Given the description of an element on the screen output the (x, y) to click on. 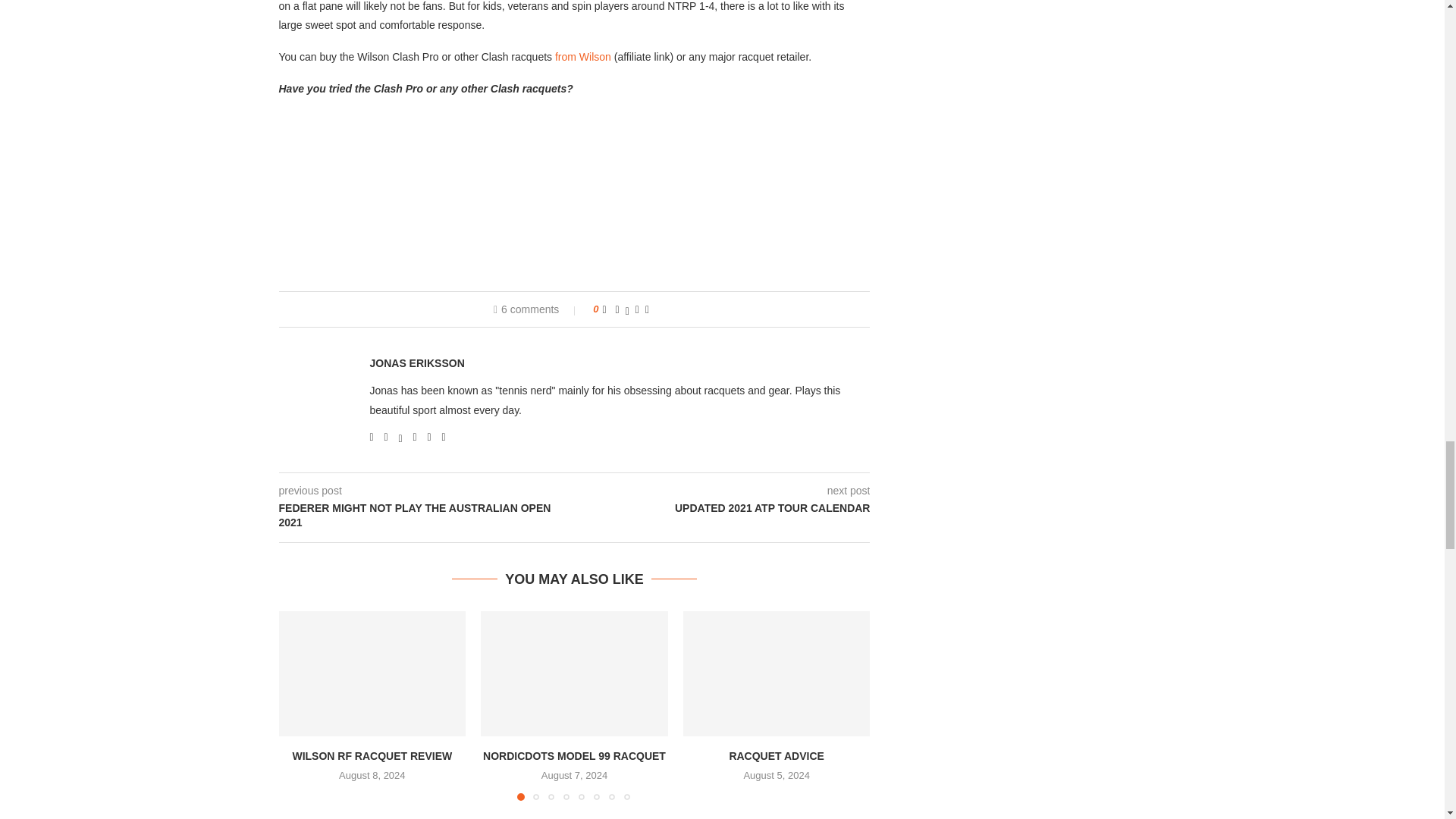
Wilson RF Racquet Review (372, 672)
Author Jonas Eriksson (416, 363)
Racquet advice (776, 672)
Nordicdots Model 99 racquet (574, 672)
